Given the description of an element on the screen output the (x, y) to click on. 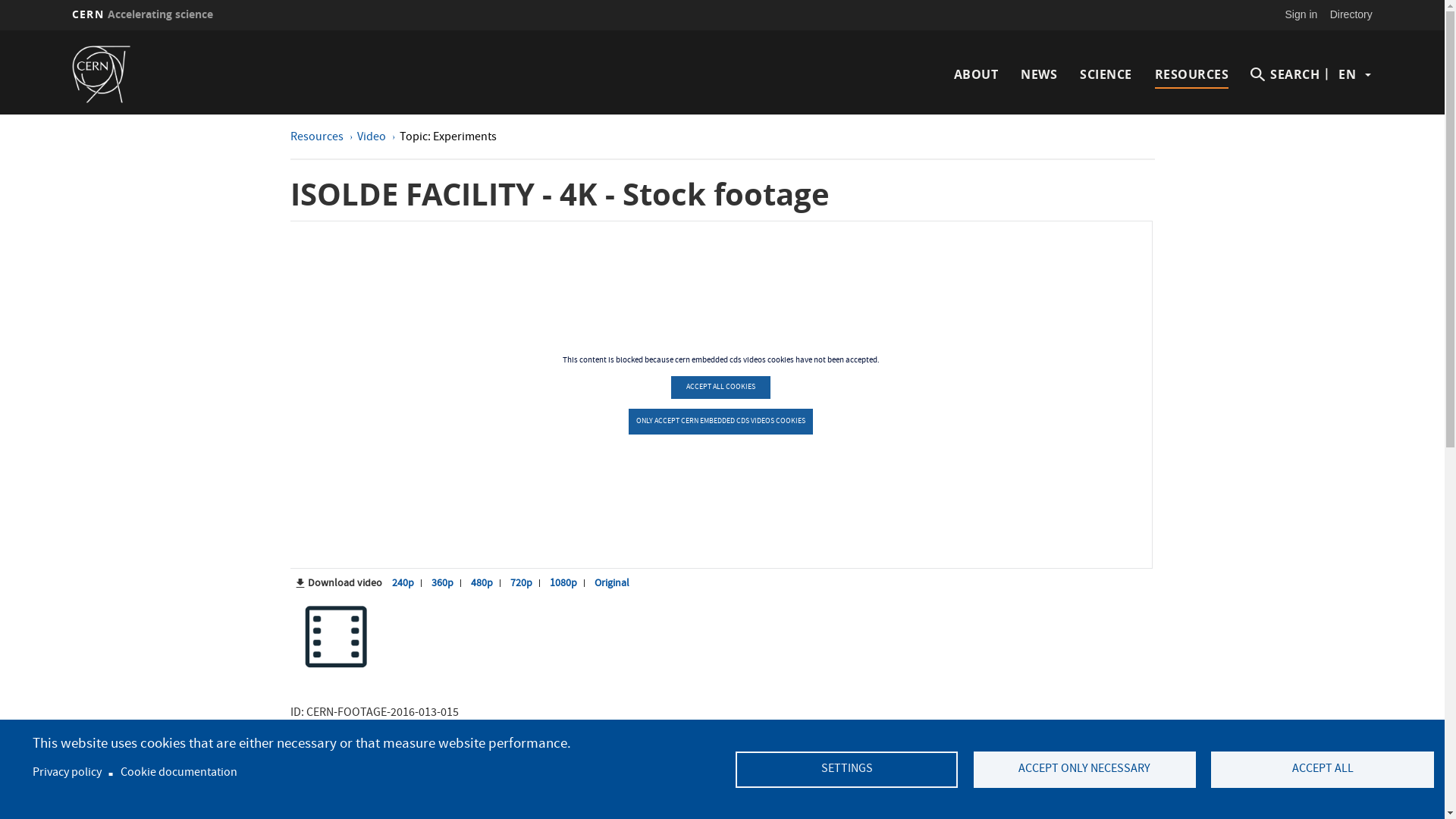
CERN Accelerating science Element type: text (142, 14)
720p Element type: text (521, 583)
240p Element type: text (403, 583)
SETTINGS Element type: text (846, 769)
Sign in Element type: text (1301, 14)
480p Element type: text (481, 583)
NEWS Element type: text (1038, 74)
Resources Element type: text (317, 137)
ABOUT Element type: text (975, 74)
360p Element type: text (442, 583)
1080p Element type: text (563, 583)
ACCEPT ALL Element type: text (1322, 769)
SEARCH Element type: text (1285, 74)
Cookie documentation Element type: text (178, 773)
Skip to main content Element type: text (0, 30)
ACCEPT ALL COOKIES Element type: text (720, 387)
RESOURCES Element type: text (1191, 74)
Video Element type: text (371, 137)
Privacy policy Element type: text (66, 773)
|
EN Element type: text (1346, 74)
SCIENCE Element type: text (1105, 74)
Home Element type: hover (122, 74)
Topic: Experiments Element type: text (446, 137)
Original Element type: text (611, 583)
ACCEPT ONLY NECESSARY Element type: text (1084, 769)
Directory Element type: text (1351, 14)
ONLY ACCEPT CERN EMBEDDED CDS VIDEOS COOKIES Element type: text (720, 421)
